Given the description of an element on the screen output the (x, y) to click on. 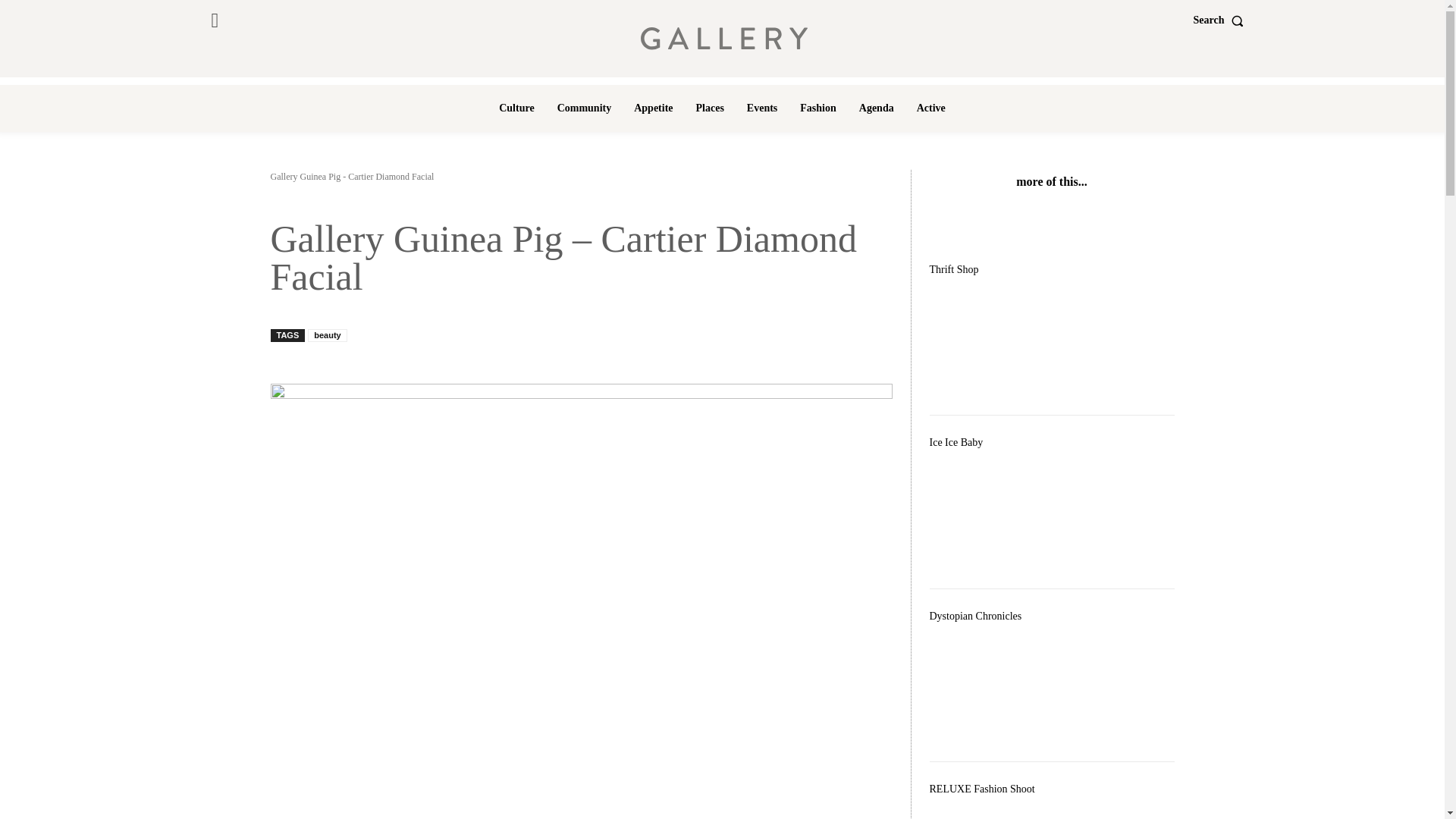
Appetite (652, 108)
Agenda (876, 108)
Fashion (817, 108)
Ice Ice Baby (1052, 515)
Thrift Shop (1052, 342)
Active (930, 108)
beauty (326, 335)
Culture (516, 108)
Community (585, 108)
Places (710, 108)
